Given the description of an element on the screen output the (x, y) to click on. 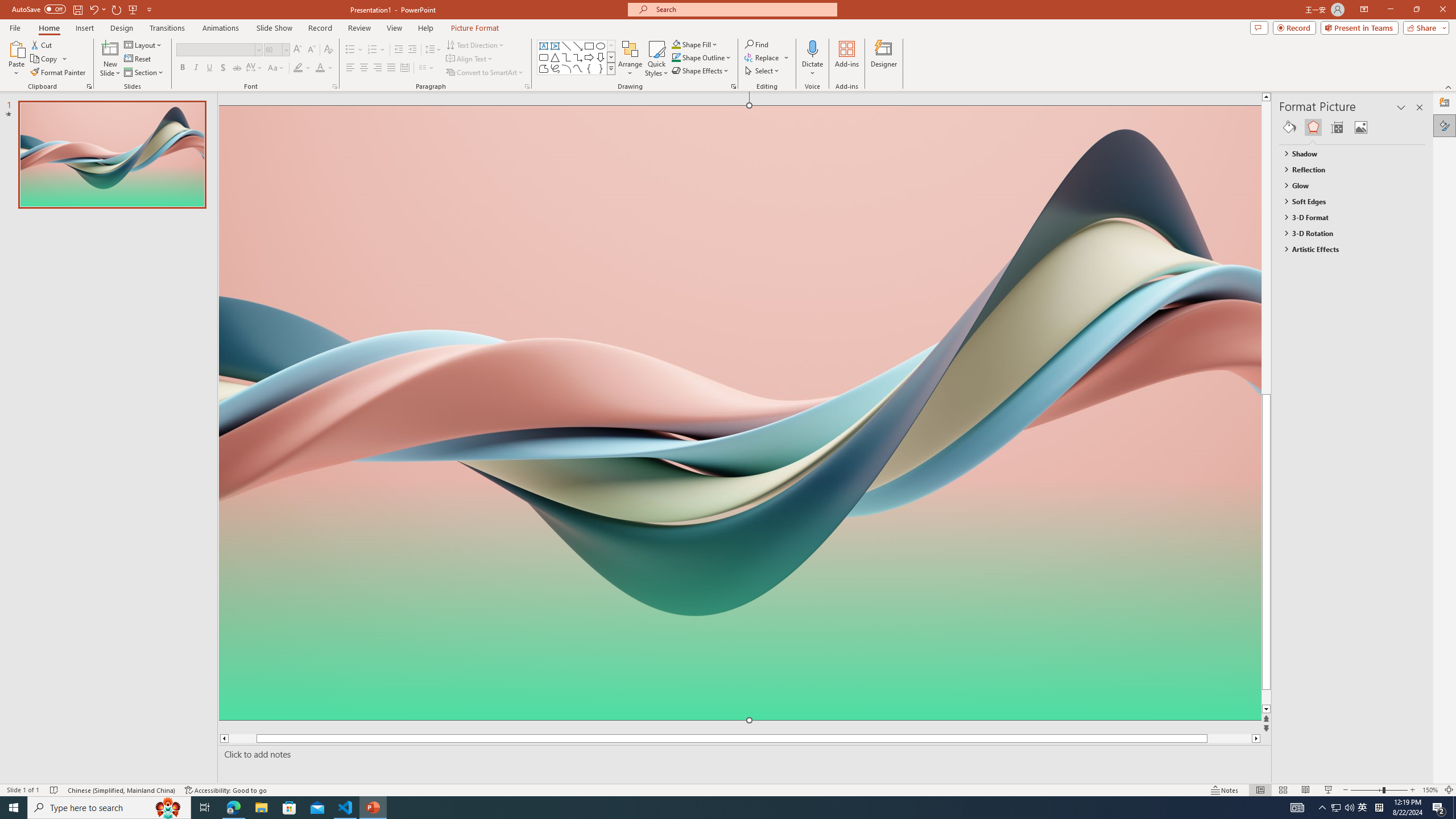
Zoom 150% (1430, 790)
